Given the description of an element on the screen output the (x, y) to click on. 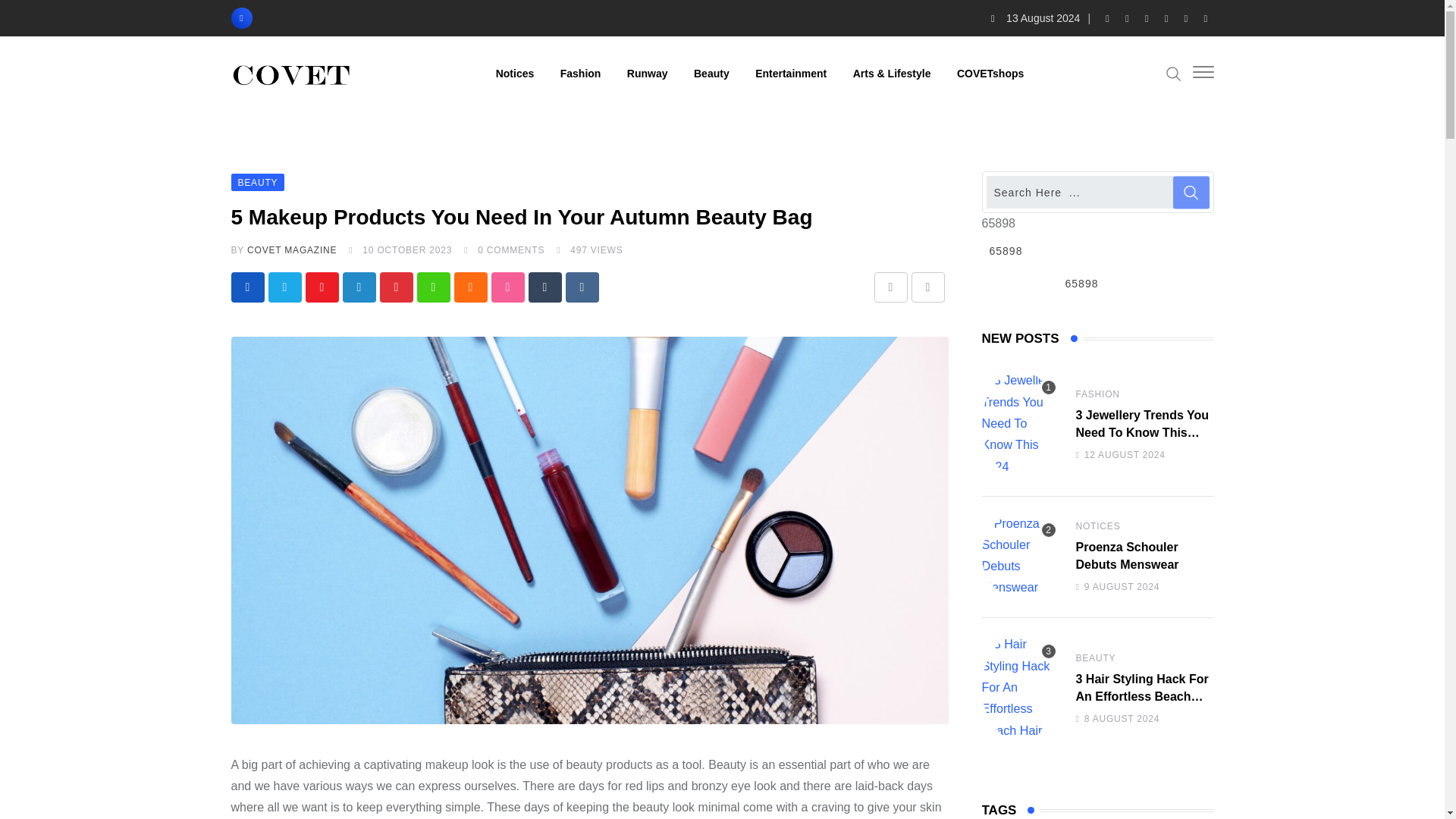
Search (1173, 72)
COVETshops (989, 73)
65898 (1096, 282)
Entertainment (791, 73)
Proenza Schouler Debuts Menswear (1019, 555)
65898 (1096, 282)
Posts by Covet Magazine (291, 249)
65898 (1096, 250)
65898 (1096, 250)
